Given the description of an element on the screen output the (x, y) to click on. 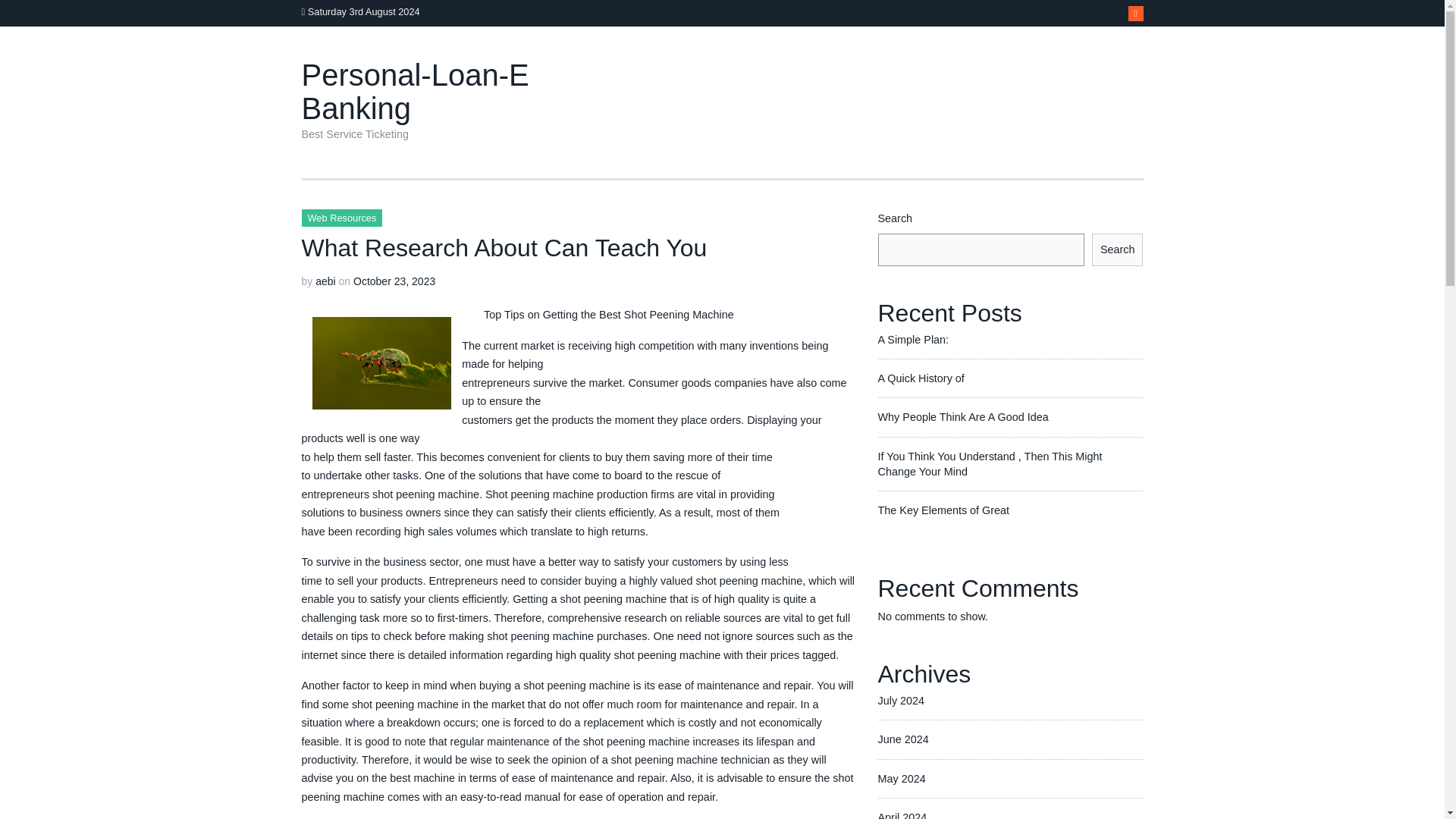
Why People Think Are A Good Idea (962, 417)
A Simple Plan: (913, 339)
aebi (324, 281)
Web Resources (341, 217)
April 2024 (902, 815)
Personal-Loan-E Banking (415, 91)
June 2024 (902, 739)
Personal-Loan-E Banking (415, 91)
July 2024 (900, 700)
A Quick History of (920, 378)
May 2024 (901, 778)
October 23, 2023 (394, 281)
The Key Elements of Great (943, 510)
Search (1117, 249)
